Given the description of an element on the screen output the (x, y) to click on. 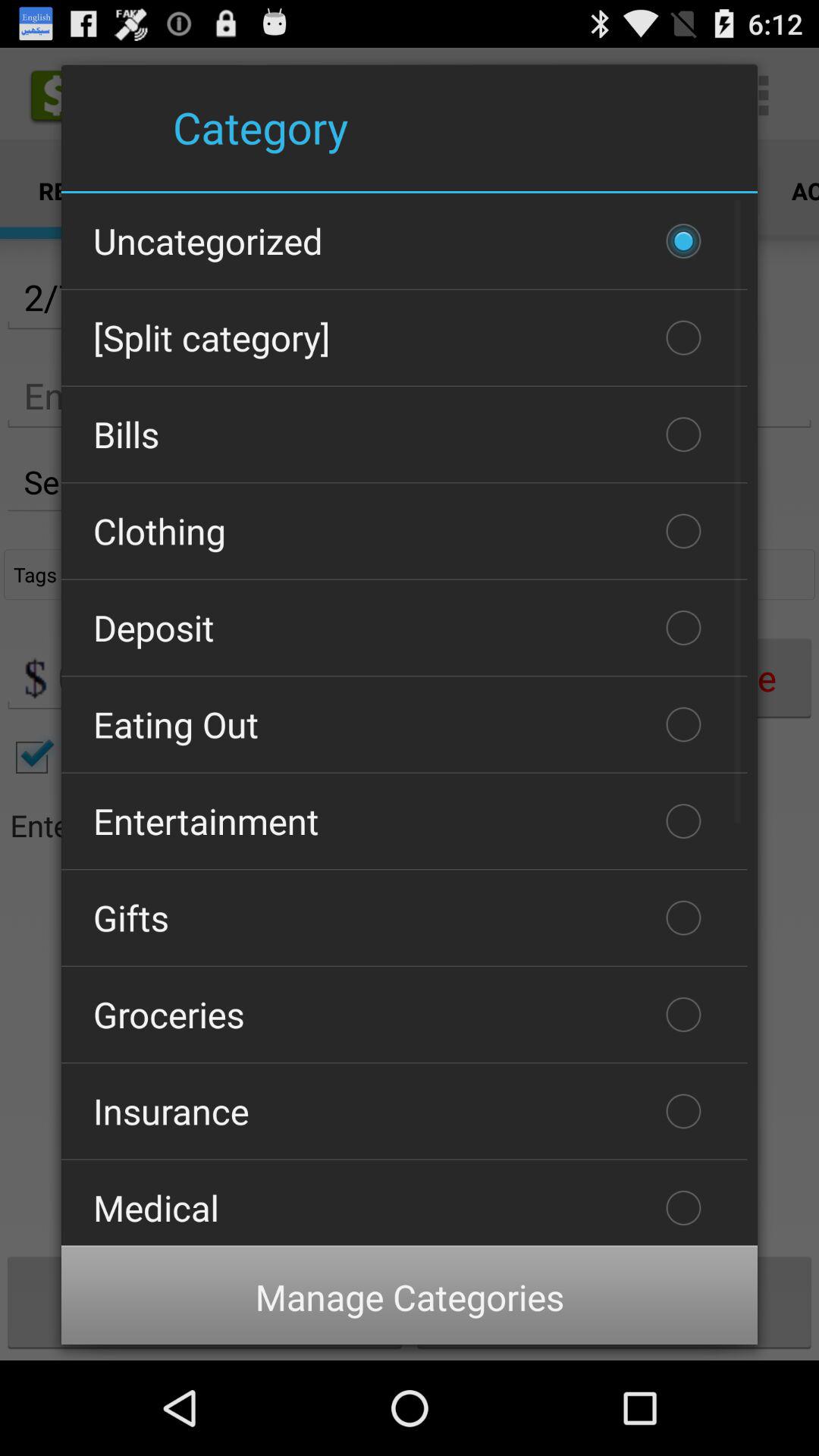
flip until the manage categories button (409, 1296)
